Given the description of an element on the screen output the (x, y) to click on. 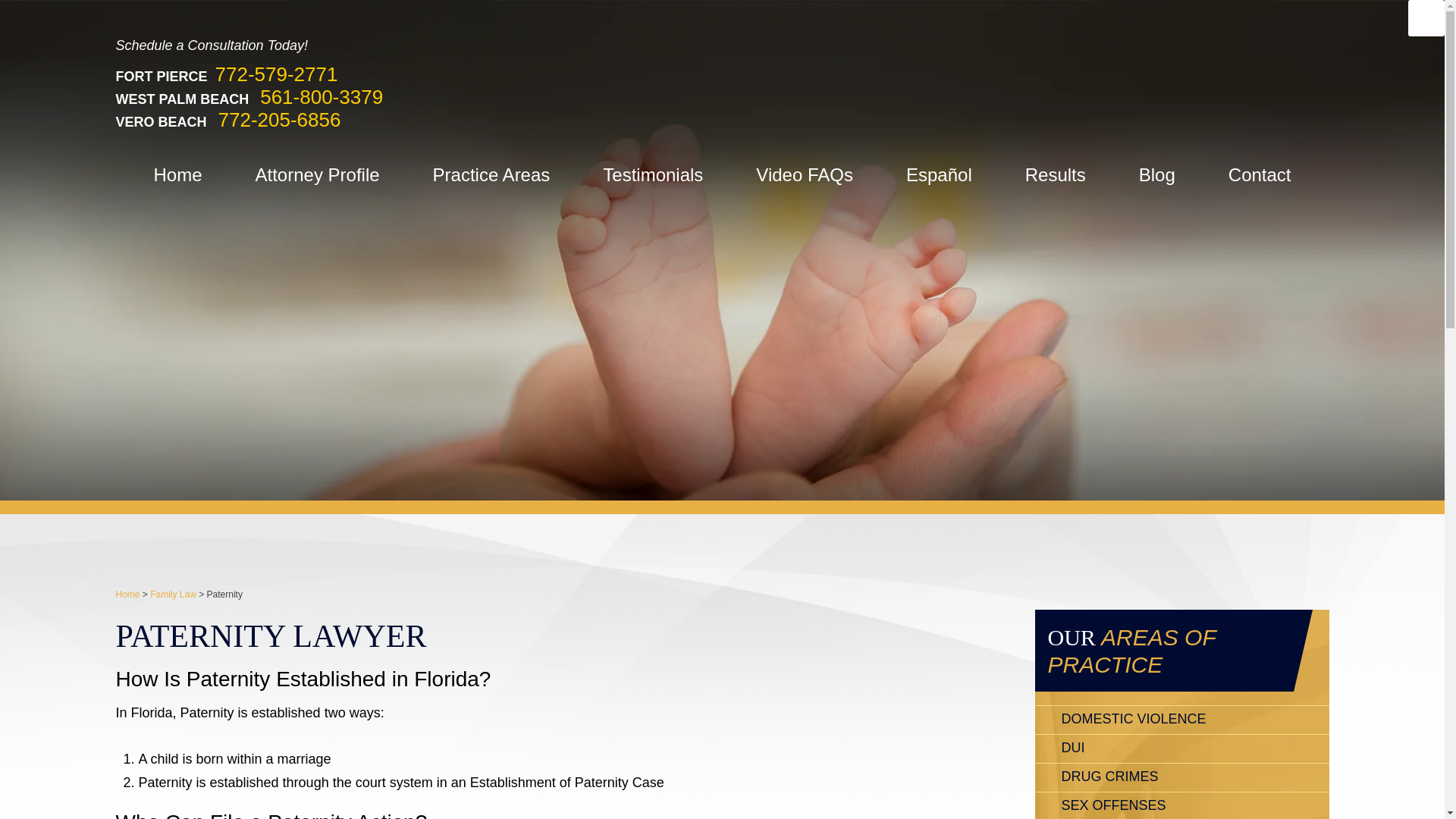
561-800-3379 (321, 96)
772-205-6856 (279, 119)
772-579-2771 (276, 74)
